Given the description of an element on the screen output the (x, y) to click on. 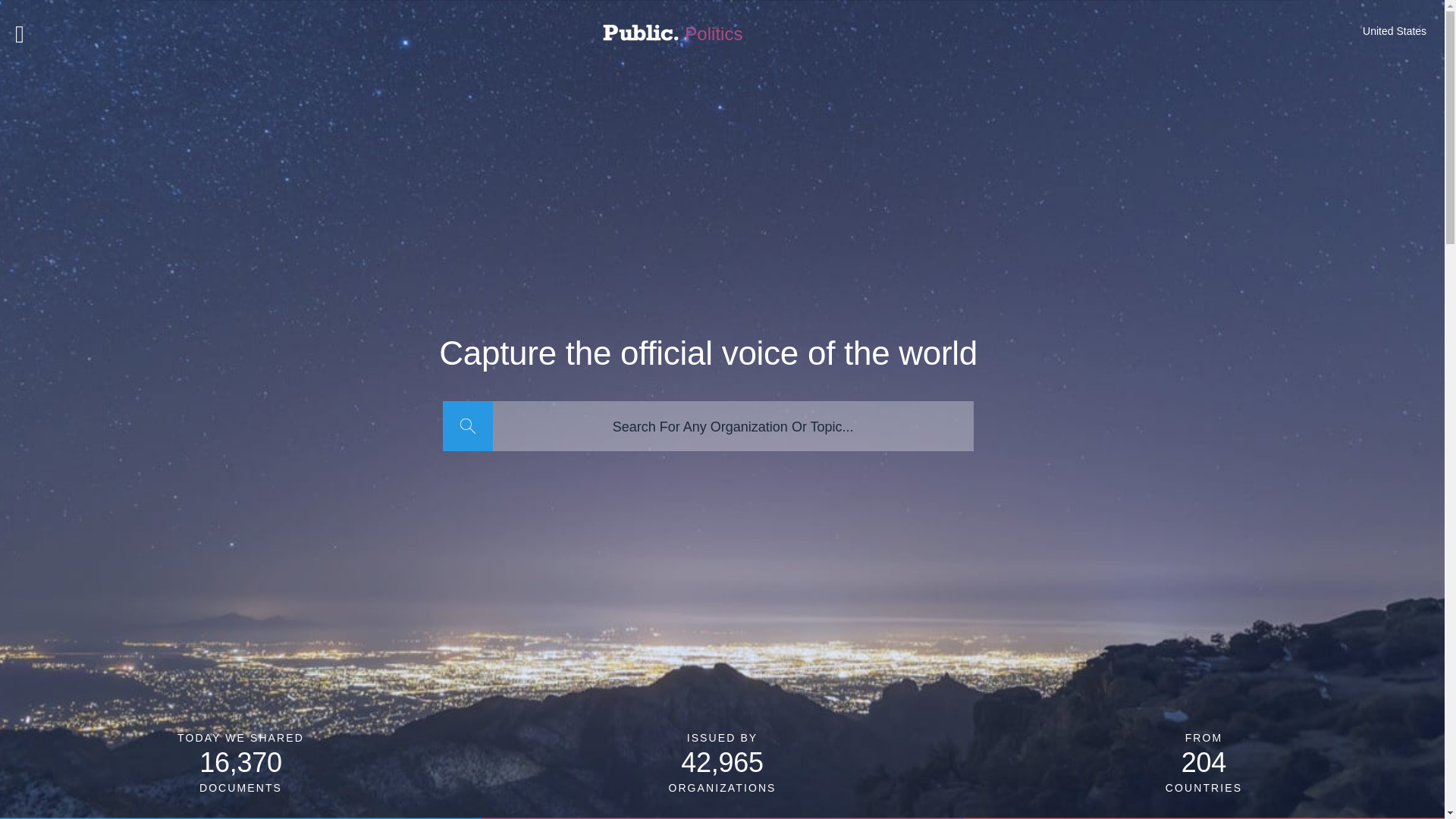
Change your country and language setting (1394, 30)
